Given the description of an element on the screen output the (x, y) to click on. 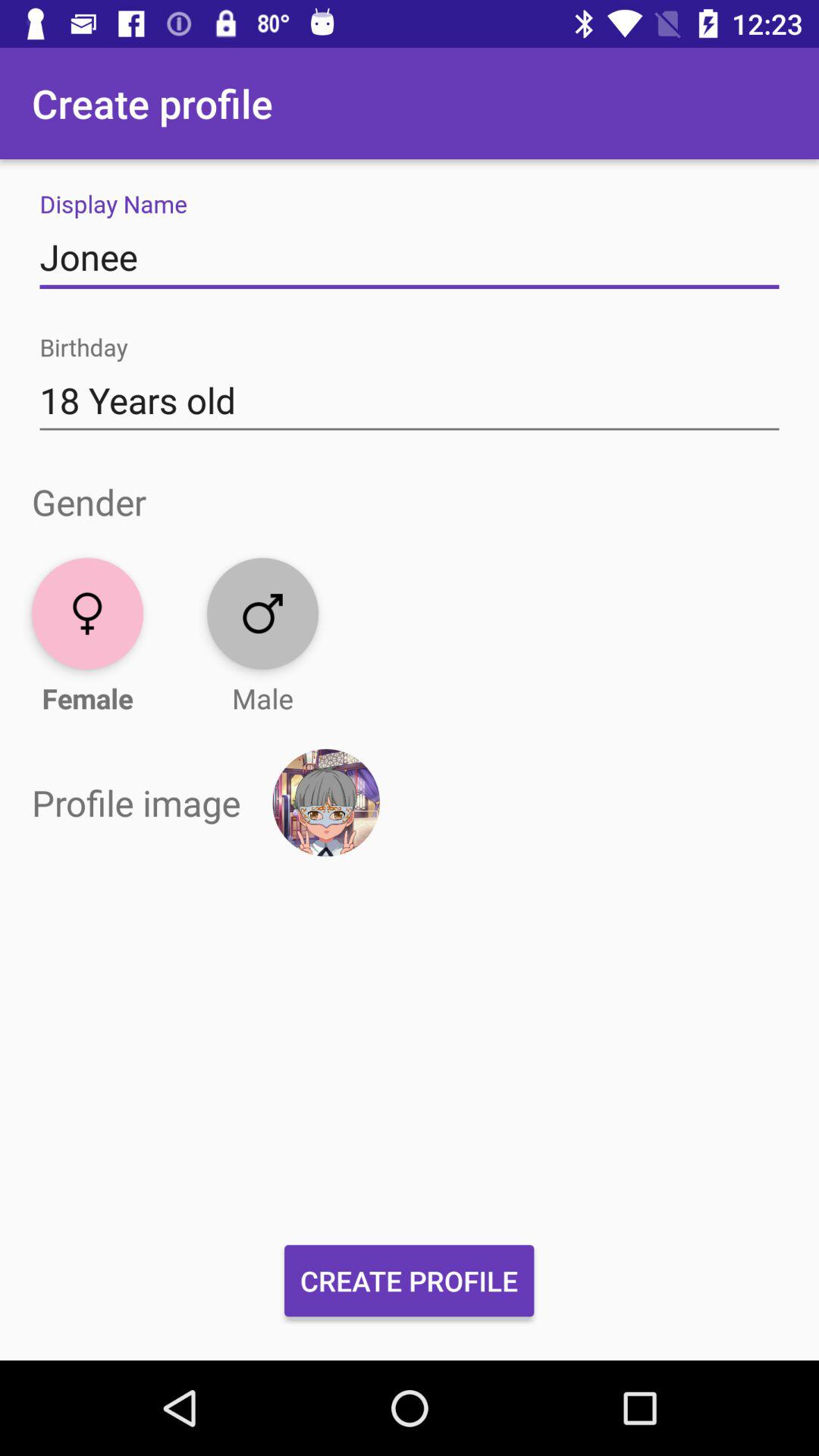
select gender (87, 613)
